Given the description of an element on the screen output the (x, y) to click on. 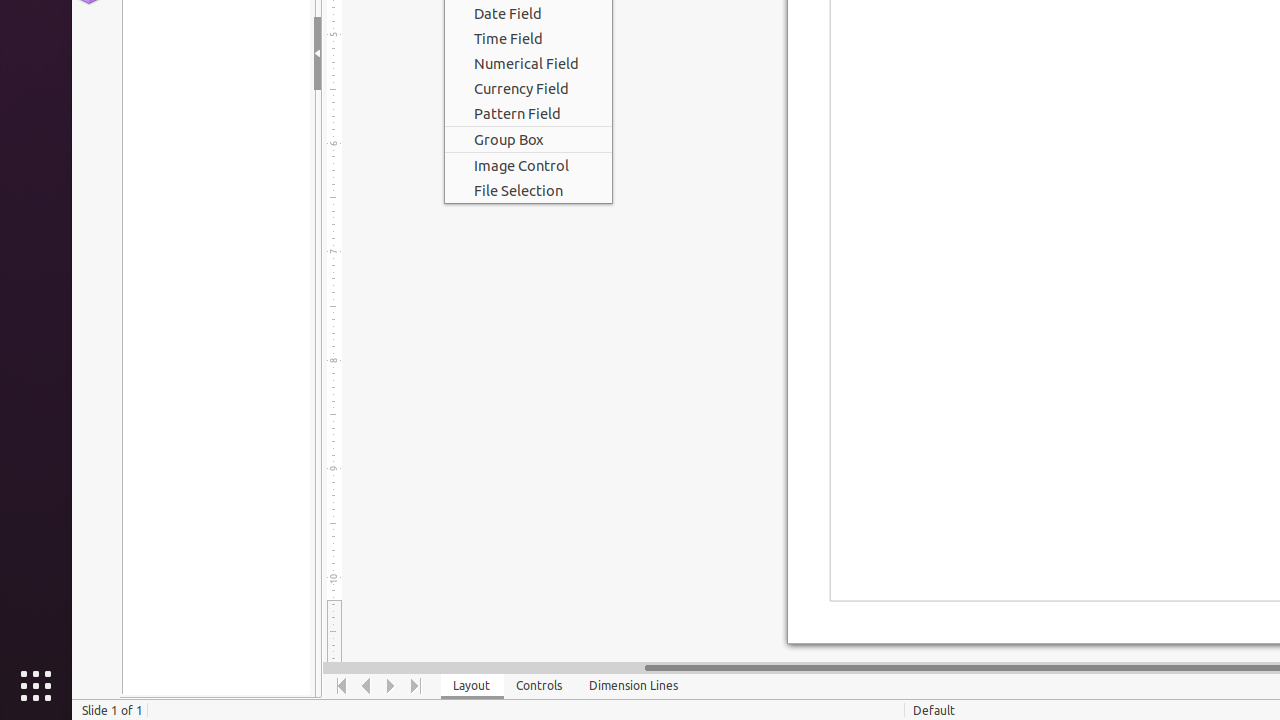
Dimension Lines Element type: page-tab (634, 686)
